Given the description of an element on the screen output the (x, y) to click on. 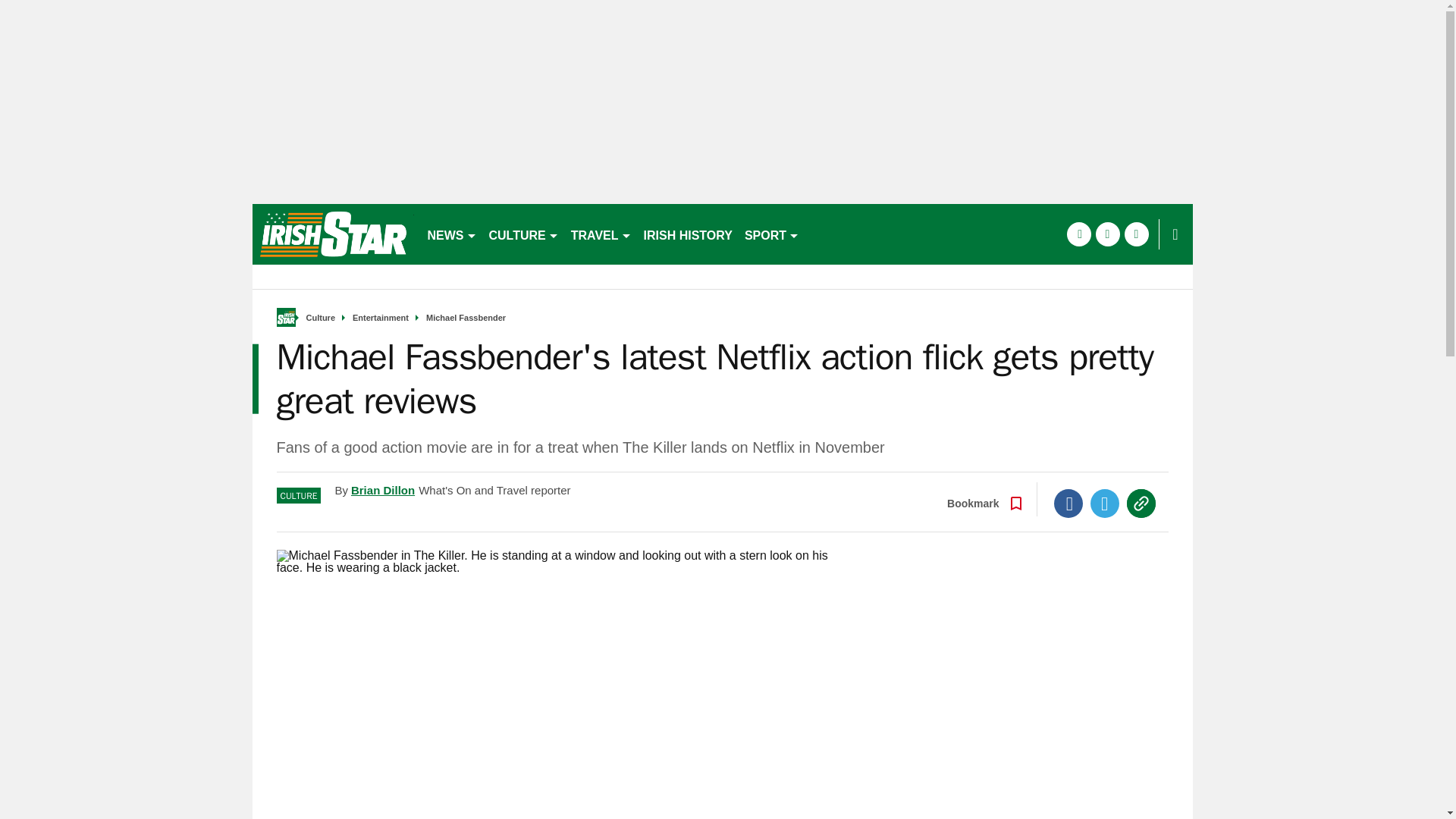
Twitter (1104, 502)
NEWS (452, 233)
instagram (1136, 233)
TRAVEL (600, 233)
SPORT (771, 233)
twitter (1106, 233)
CULTURE (522, 233)
irishstar (332, 233)
facebook (1077, 233)
Facebook (1068, 502)
IRISH HISTORY (687, 233)
